Given the description of an element on the screen output the (x, y) to click on. 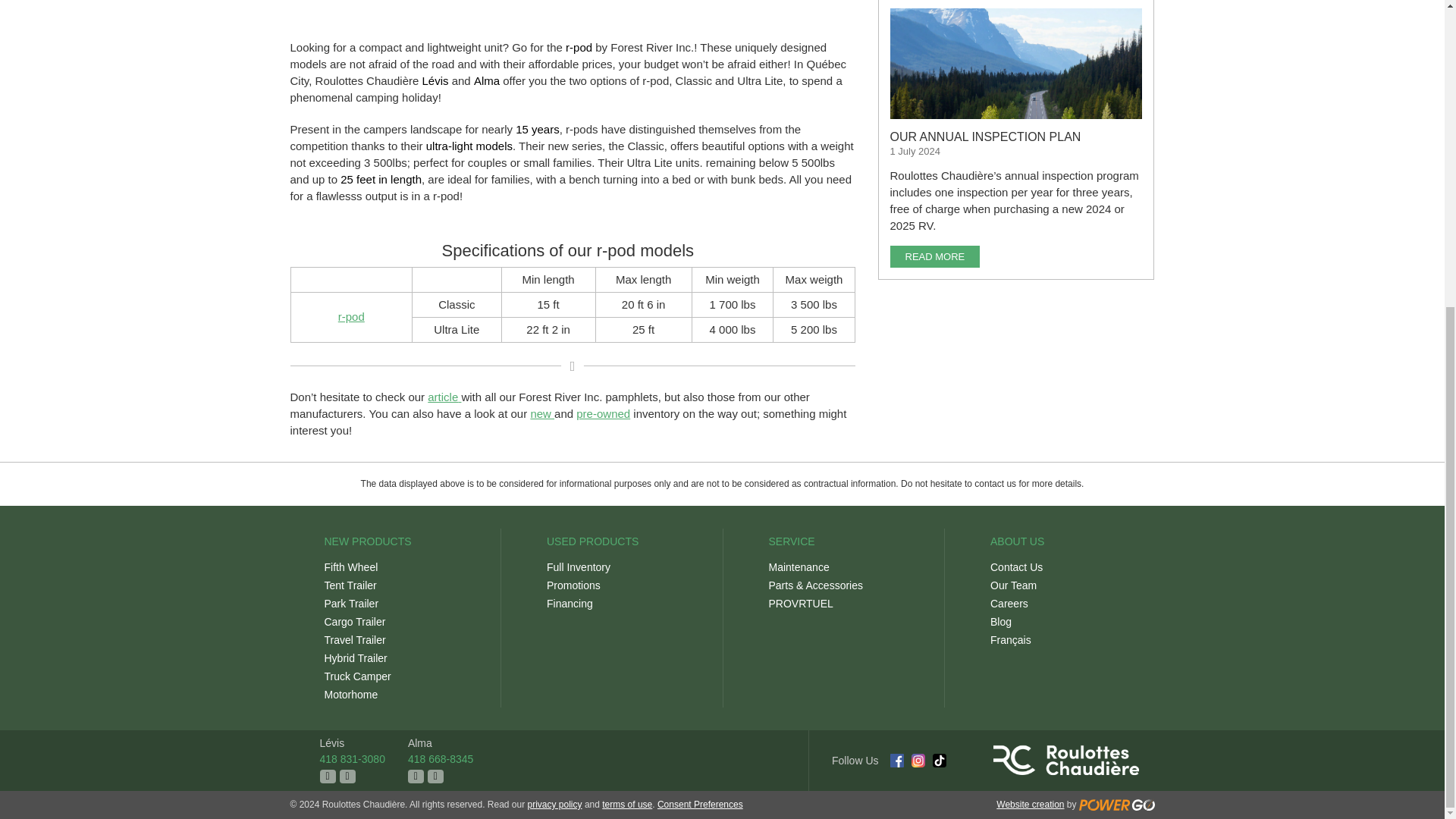
Contact Us (328, 775)
Facebook (896, 760)
Directions (436, 775)
Contact Us (415, 775)
Our Annual Inspection Plan (1015, 63)
TikTok (939, 760)
Instagram (917, 760)
Directions (347, 775)
